Given the description of an element on the screen output the (x, y) to click on. 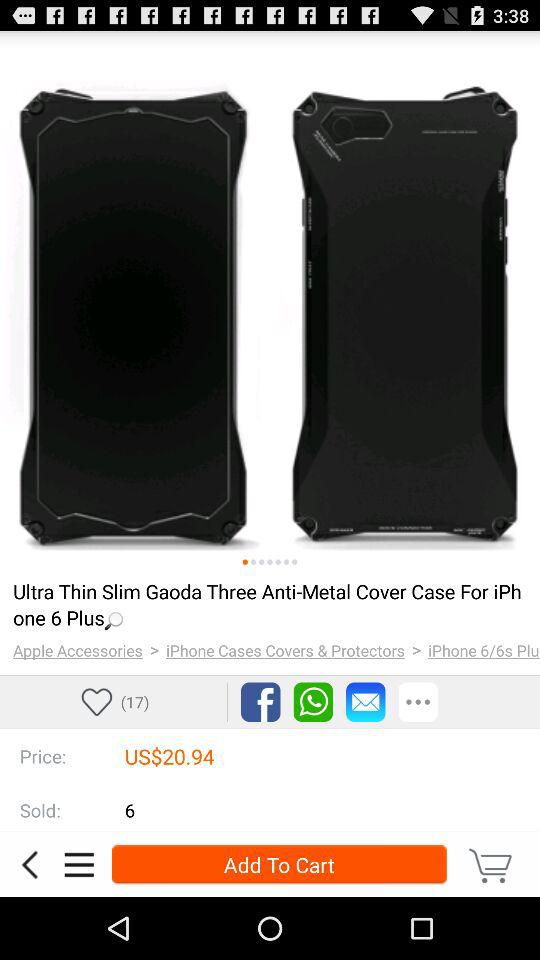
go back (29, 864)
